Given the description of an element on the screen output the (x, y) to click on. 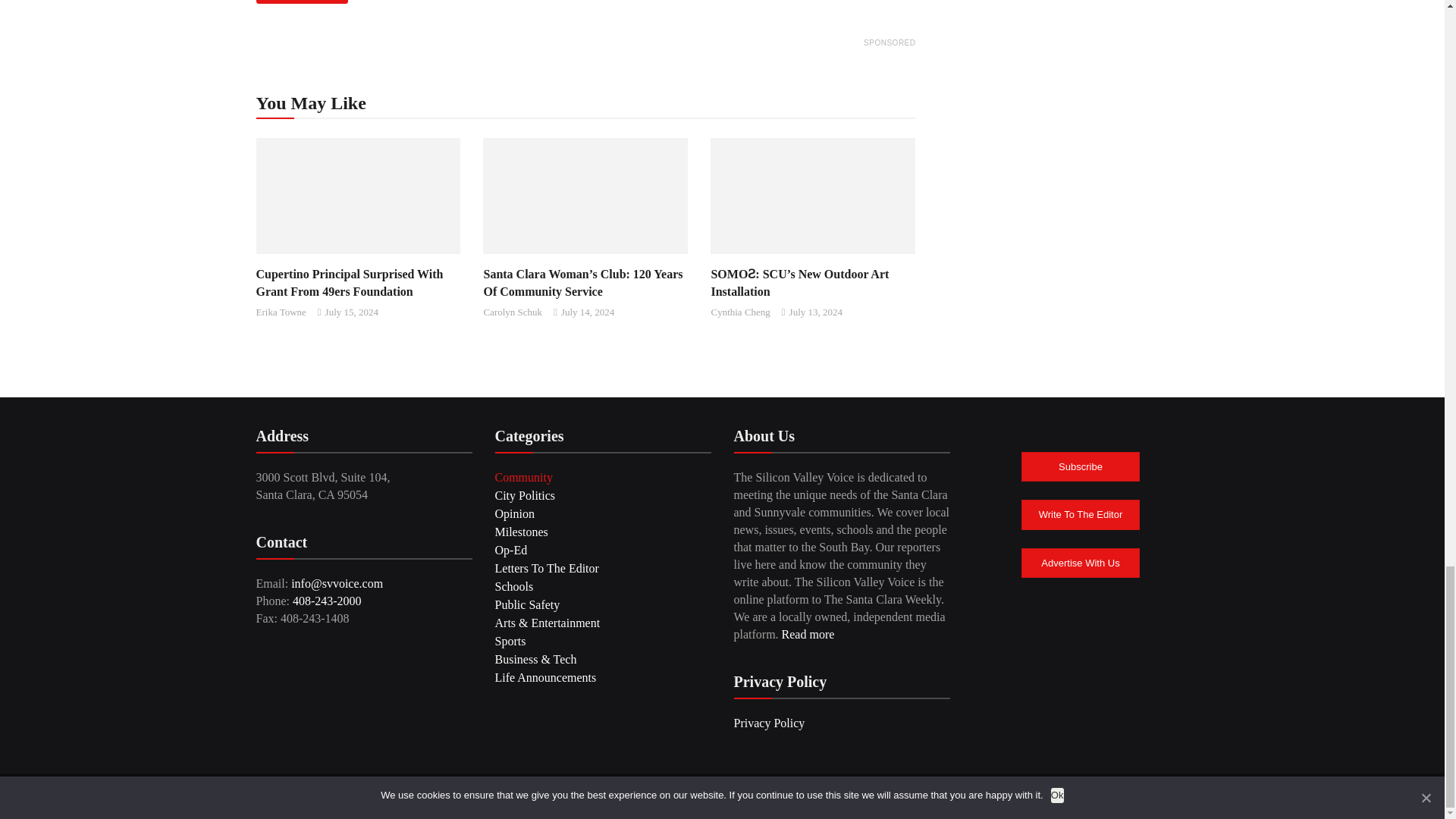
Post Comment (301, 2)
